Given the description of an element on the screen output the (x, y) to click on. 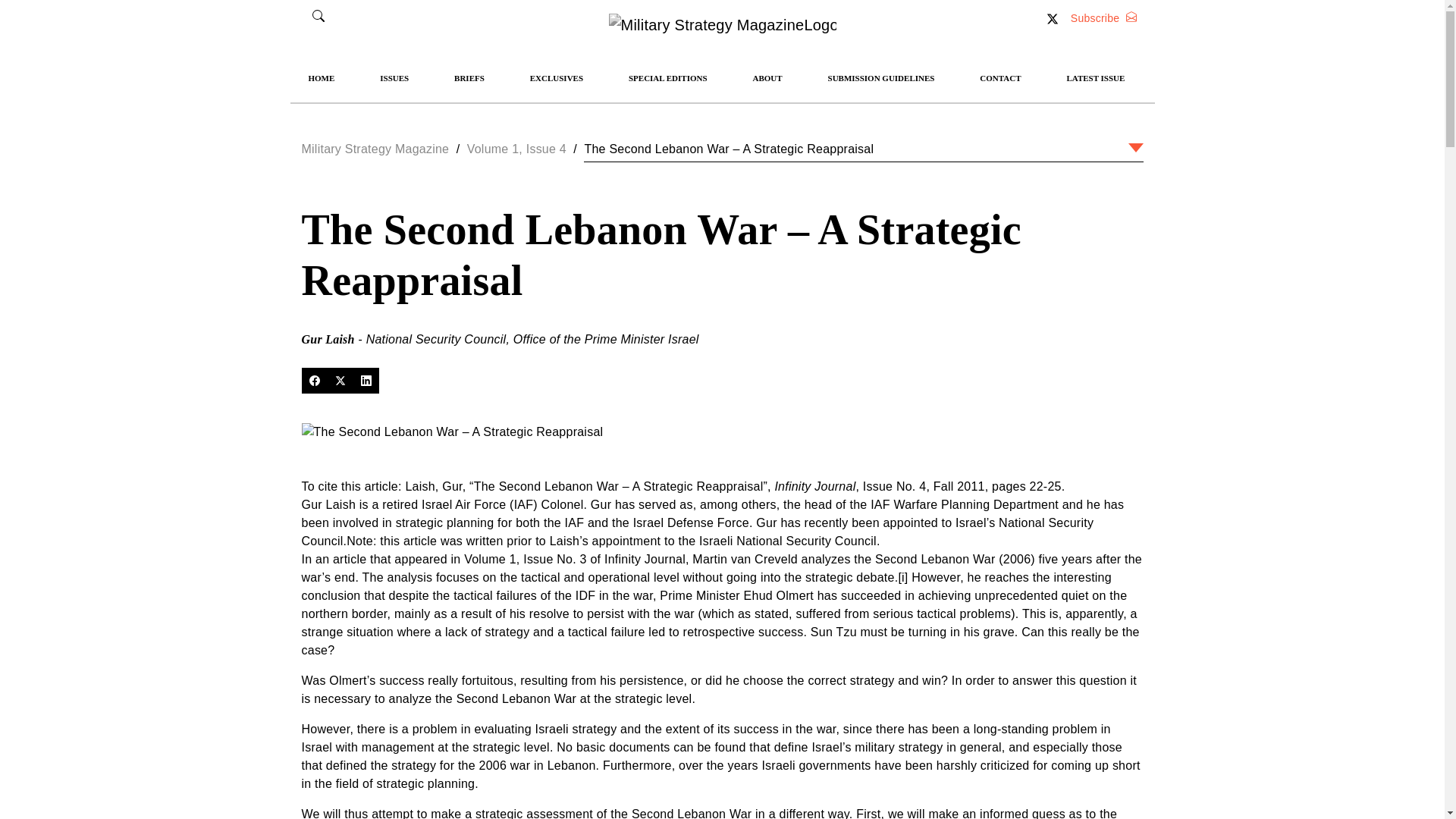
BRIEFS (469, 78)
LATEST ISSUE (1095, 78)
Military Strategy Magazine (375, 149)
Volume 1, Issue 4 (516, 149)
SPECIAL EDITIONS (668, 78)
ISSUES (394, 78)
EXCLUSIVES (556, 78)
Subscribe  (1103, 18)
HOME (320, 78)
CONTACT (1000, 78)
